Given the description of an element on the screen output the (x, y) to click on. 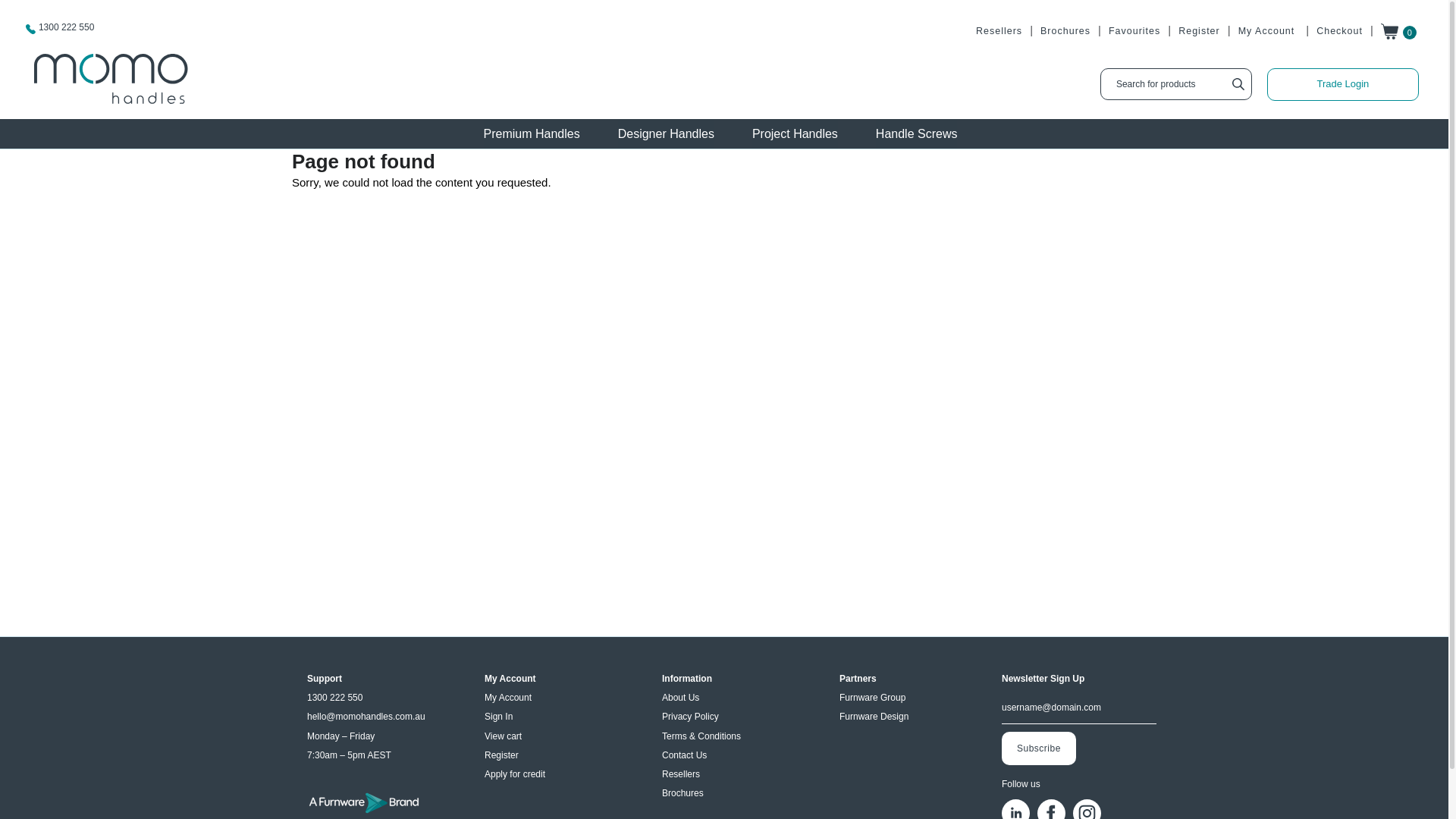
Subscribe Element type: text (1038, 748)
Premium Handles Element type: text (531, 133)
About Us Element type: text (680, 697)
Apply for credit Element type: text (514, 773)
Favourites Element type: text (1134, 30)
View cart Element type: text (502, 736)
Contact Us Element type: text (684, 754)
Checkout Element type: text (1339, 30)
Resellers Element type: text (998, 30)
Trade Login Element type: text (1342, 85)
Privacy Policy Element type: text (690, 716)
Sign In Element type: text (498, 716)
0 Element type: text (1401, 36)
Terms & Conditions Element type: text (701, 736)
Brochures Element type: text (682, 792)
My Account Element type: text (507, 697)
Register Element type: text (1199, 30)
Handle Screws Element type: text (916, 133)
Brochures Element type: text (1065, 30)
1300 222 550 Element type: text (66, 27)
Furnware Design Element type: text (873, 716)
My Account Element type: text (1266, 30)
Resellers Element type: text (680, 773)
1300 222 550 Element type: text (334, 697)
Furnware Group Element type: text (872, 697)
Designer Handles Element type: text (666, 133)
Register Element type: text (501, 754)
Project Handles Element type: text (794, 133)
hello@momohandles.com.au Element type: text (366, 716)
